Given the description of an element on the screen output the (x, y) to click on. 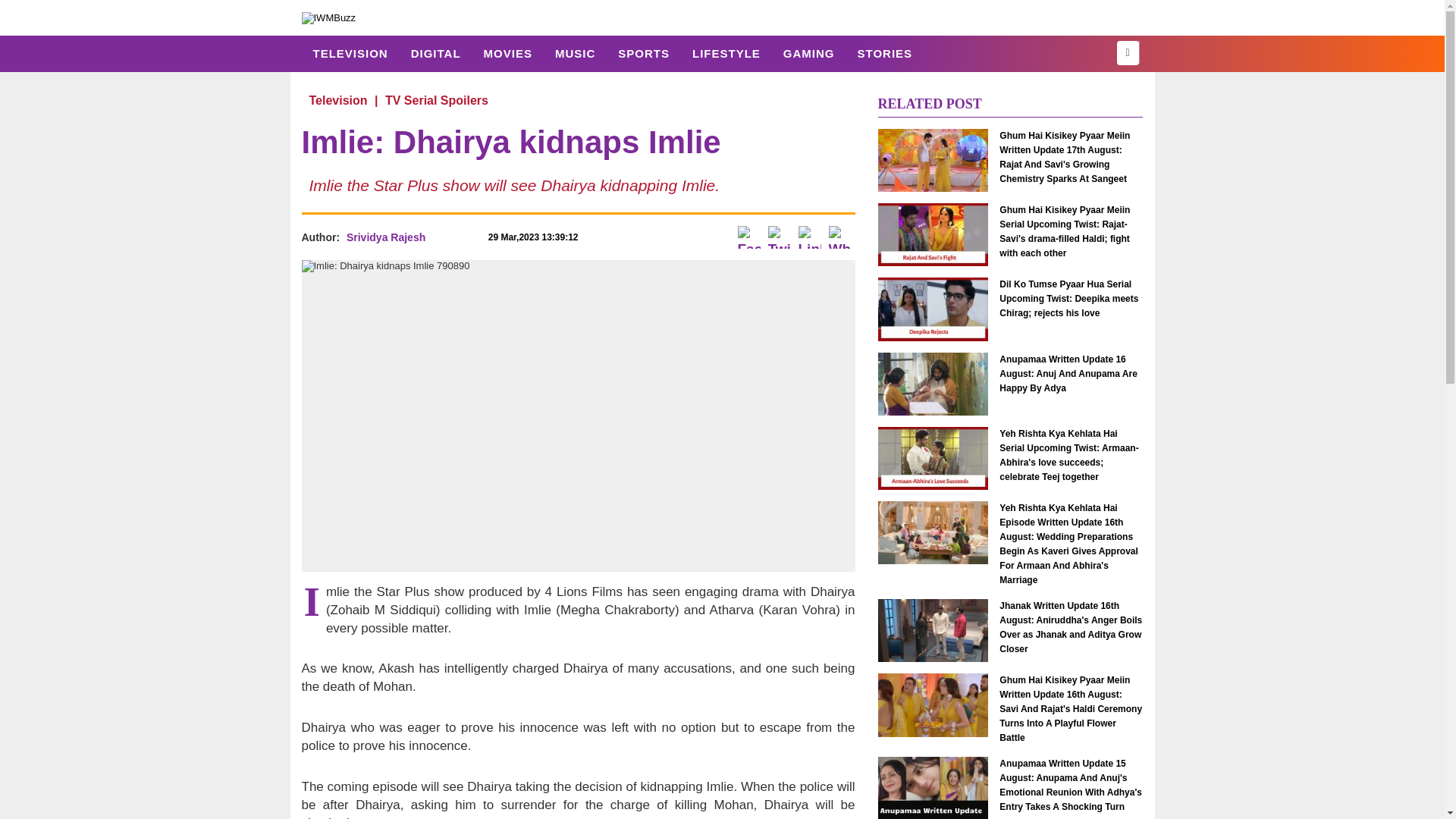
IWMBuzz (328, 16)
TV Serial Spoilers (436, 100)
